Given the description of an element on the screen output the (x, y) to click on. 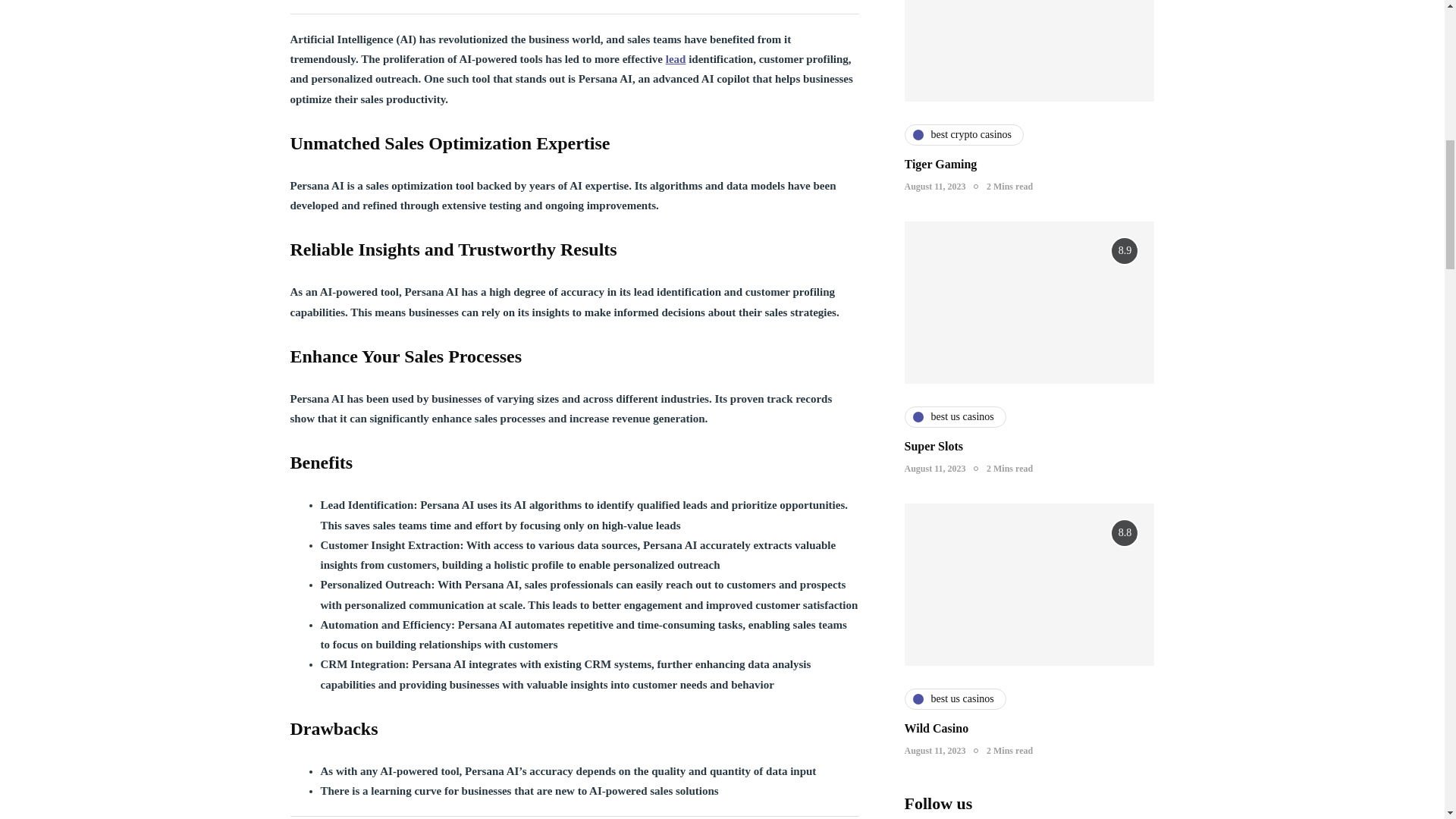
Share with Facebook (298, 817)
